Given the description of an element on the screen output the (x, y) to click on. 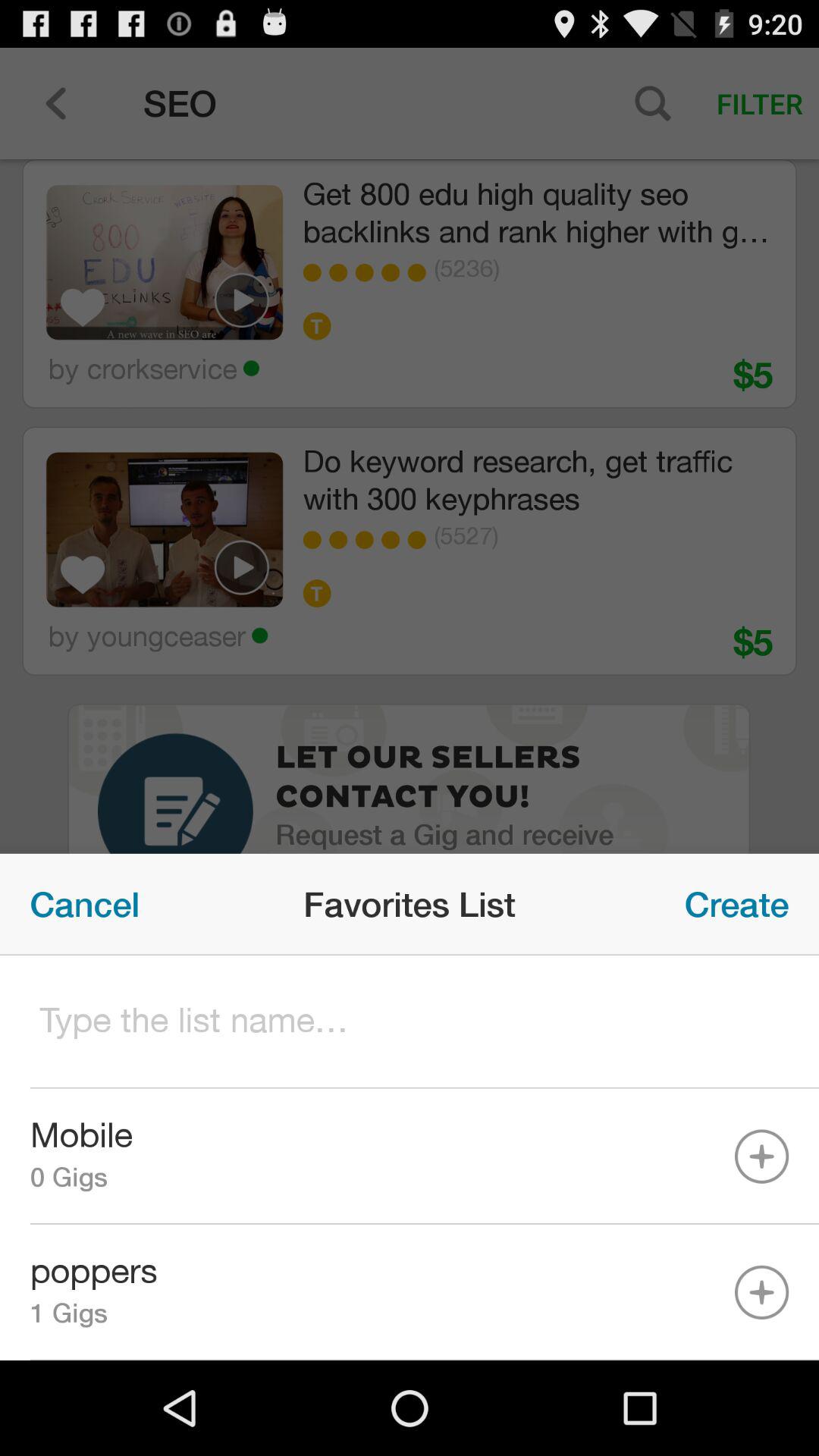
scroll until the cancel (84, 903)
